Given the description of an element on the screen output the (x, y) to click on. 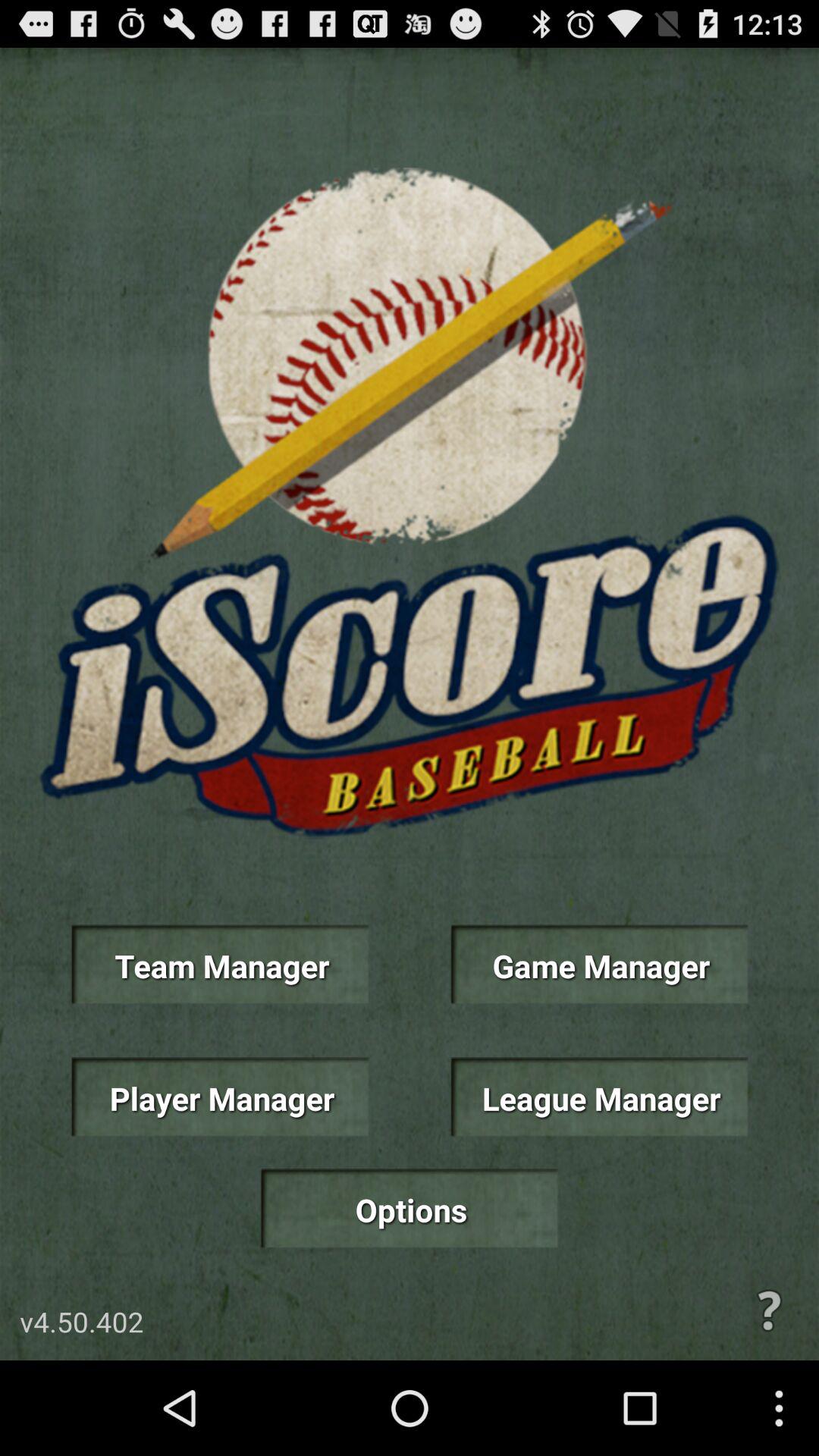
turn on the team manager (219, 964)
